Given the description of an element on the screen output the (x, y) to click on. 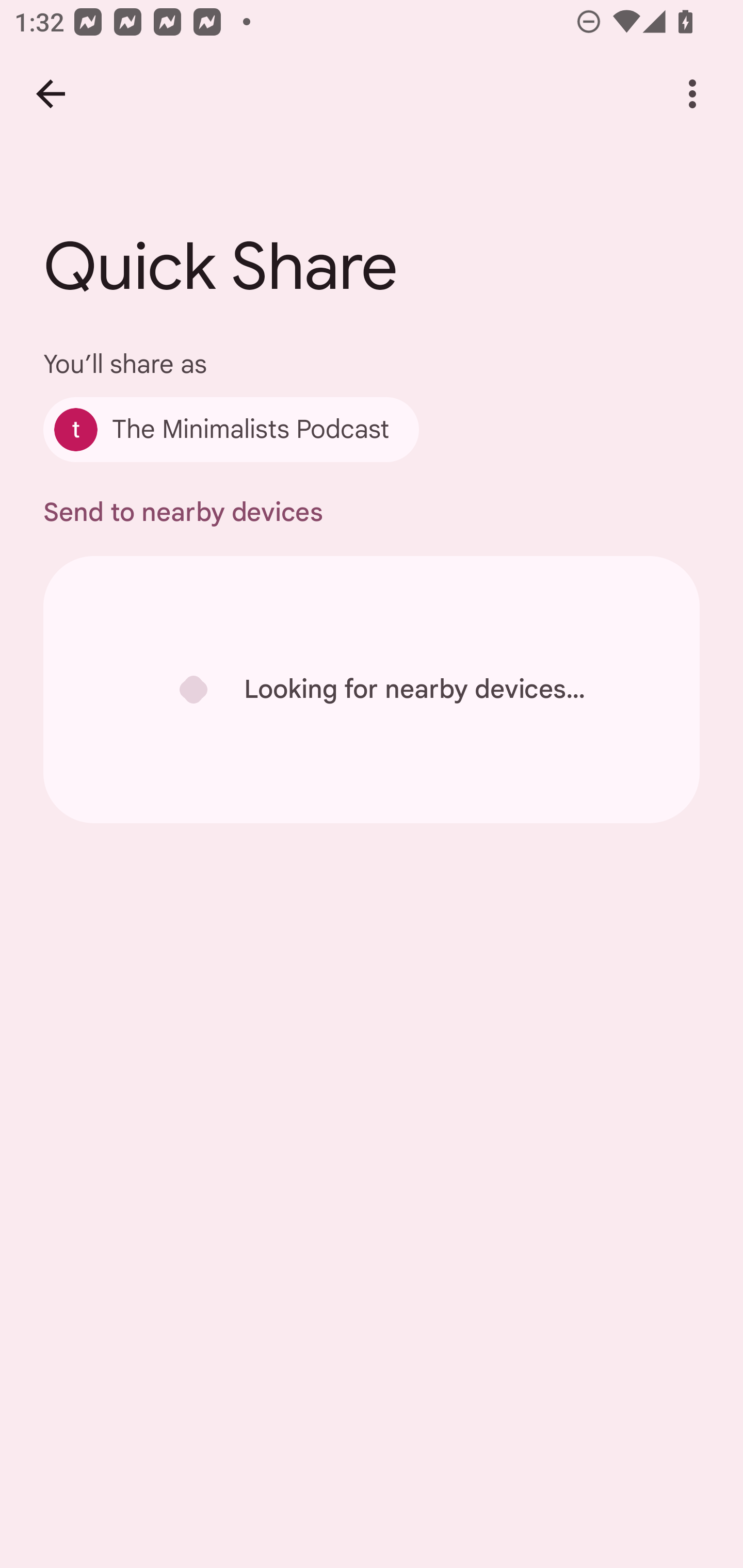
Back (50, 93)
More (692, 93)
The Minimalists Podcast (231, 429)
